Given the description of an element on the screen output the (x, y) to click on. 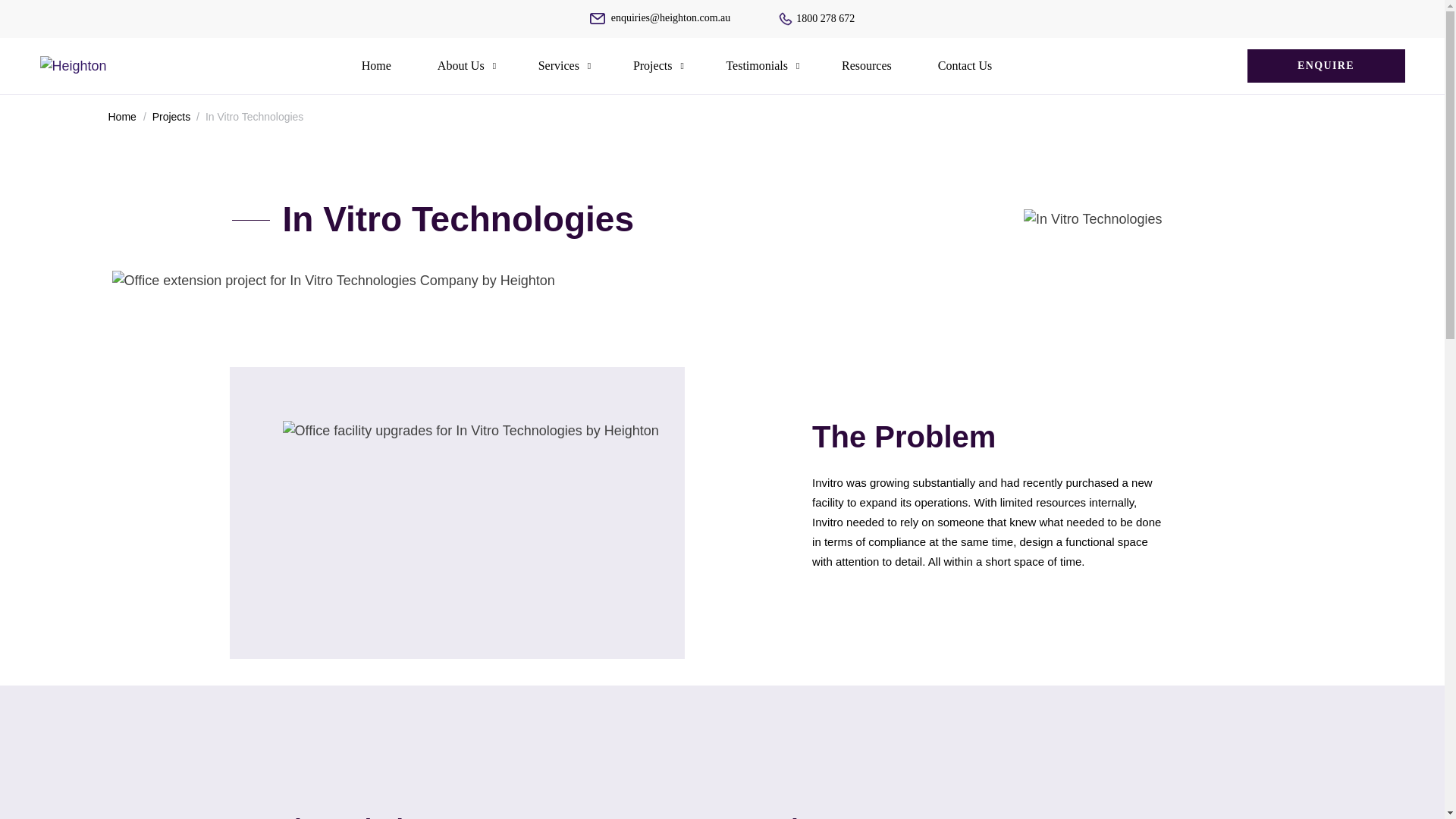
About Us (460, 65)
1800 278 672 (816, 18)
Services (557, 65)
Home (121, 116)
Home (376, 65)
Untitled-design-10 - Heighton (470, 430)
Untitled-design-11 - Heighton (333, 281)
ENQUIRE (1325, 65)
Contact Us (965, 65)
Screenshot-2023-11-22-110723 - Heighton (1092, 219)
